Given the description of an element on the screen output the (x, y) to click on. 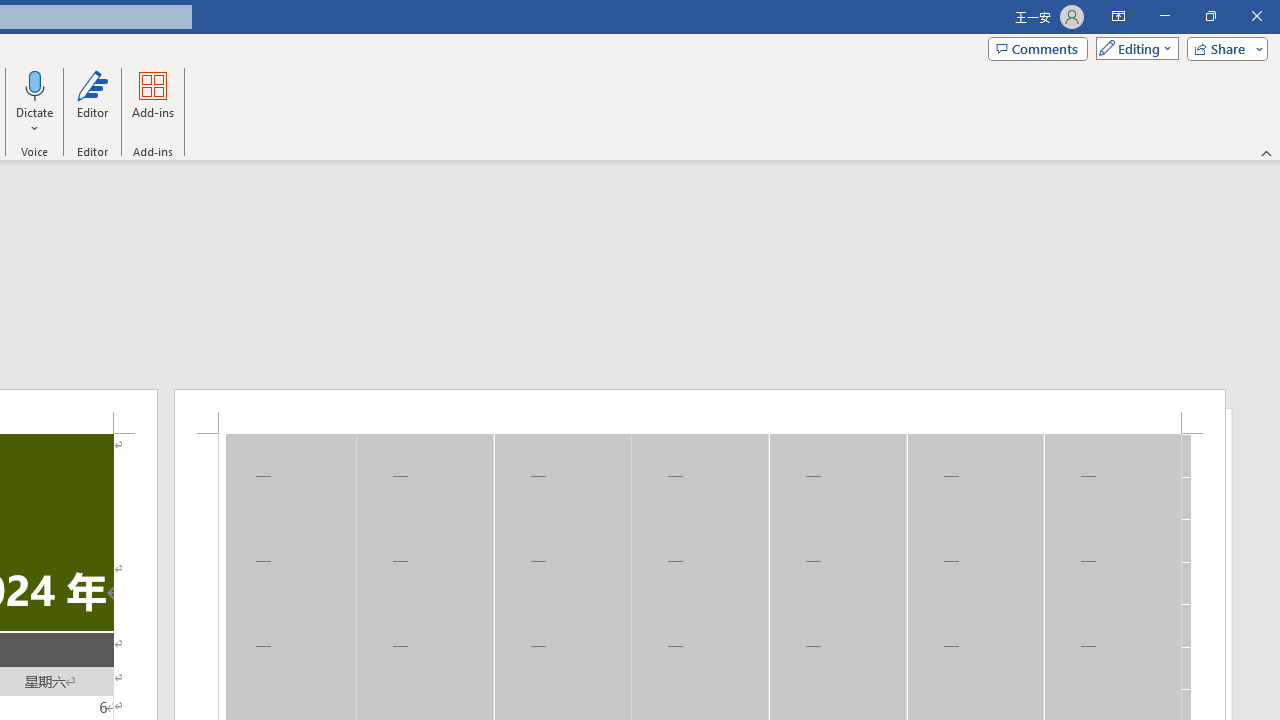
Header -Section 1- (700, 411)
